Given the description of an element on the screen output the (x, y) to click on. 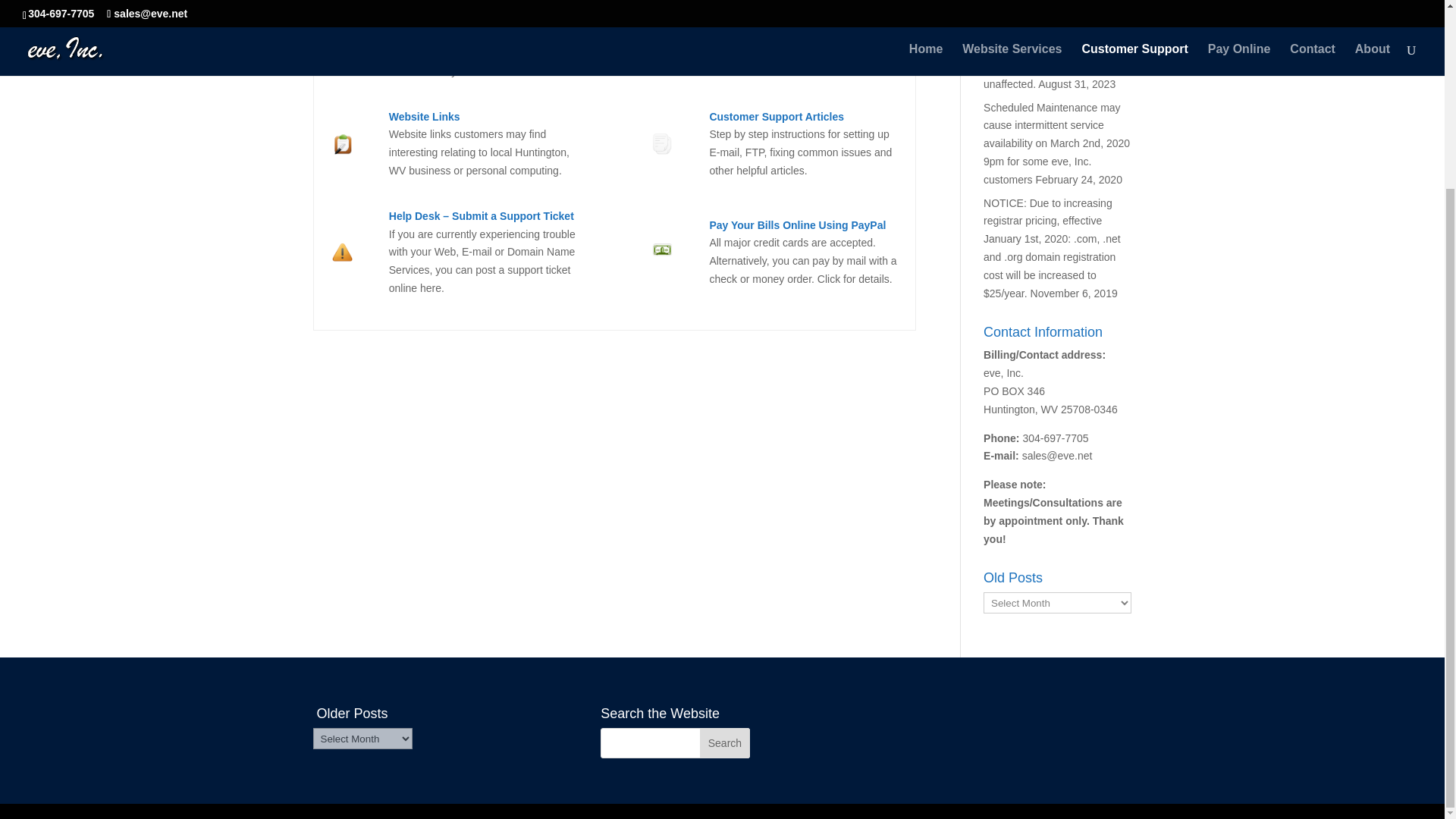
Pay Your Bill Online (797, 224)
Customer Support Articles (662, 143)
Website Links (424, 116)
Search (724, 743)
Help Desk - Submit a Support Ticket Online (341, 252)
Frequently Asked Questions (780, 2)
Pay Your Bill Online (662, 256)
Latest News and Announcements (341, 26)
